Given the description of an element on the screen output the (x, y) to click on. 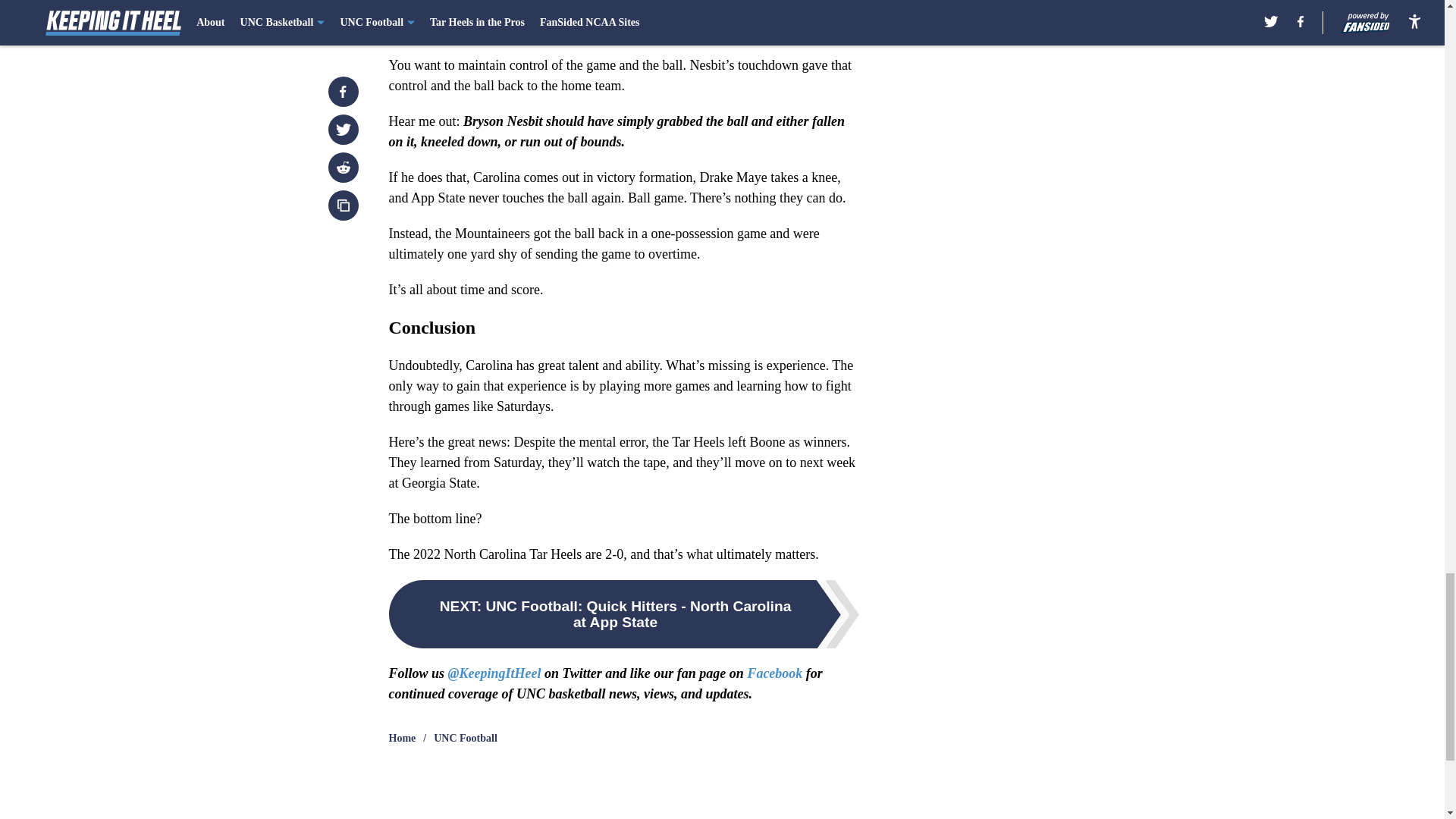
Home (401, 738)
Facebook (774, 672)
UNC Football (465, 738)
